Given the description of an element on the screen output the (x, y) to click on. 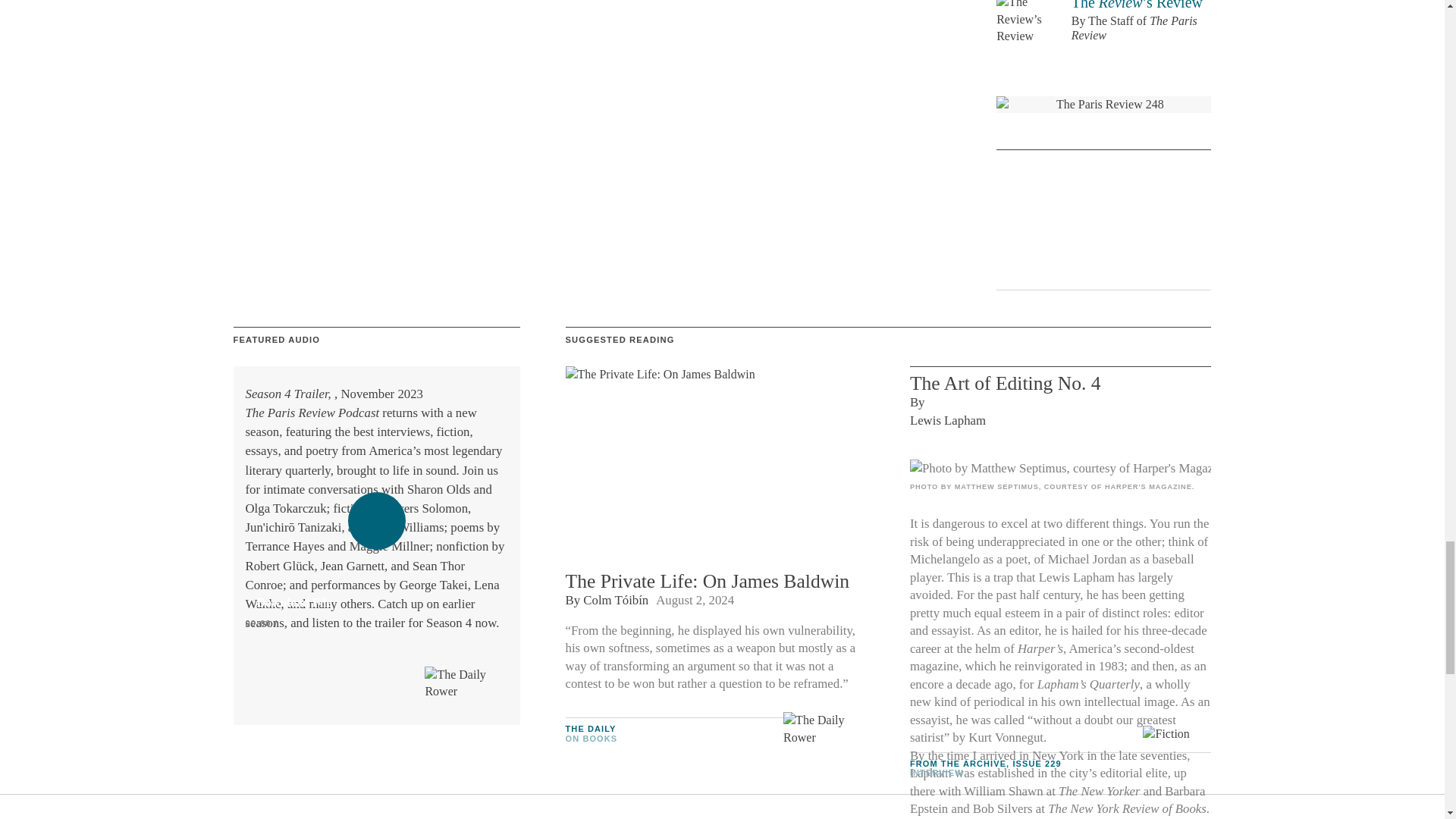
undefined (1060, 468)
